Given the description of an element on the screen output the (x, y) to click on. 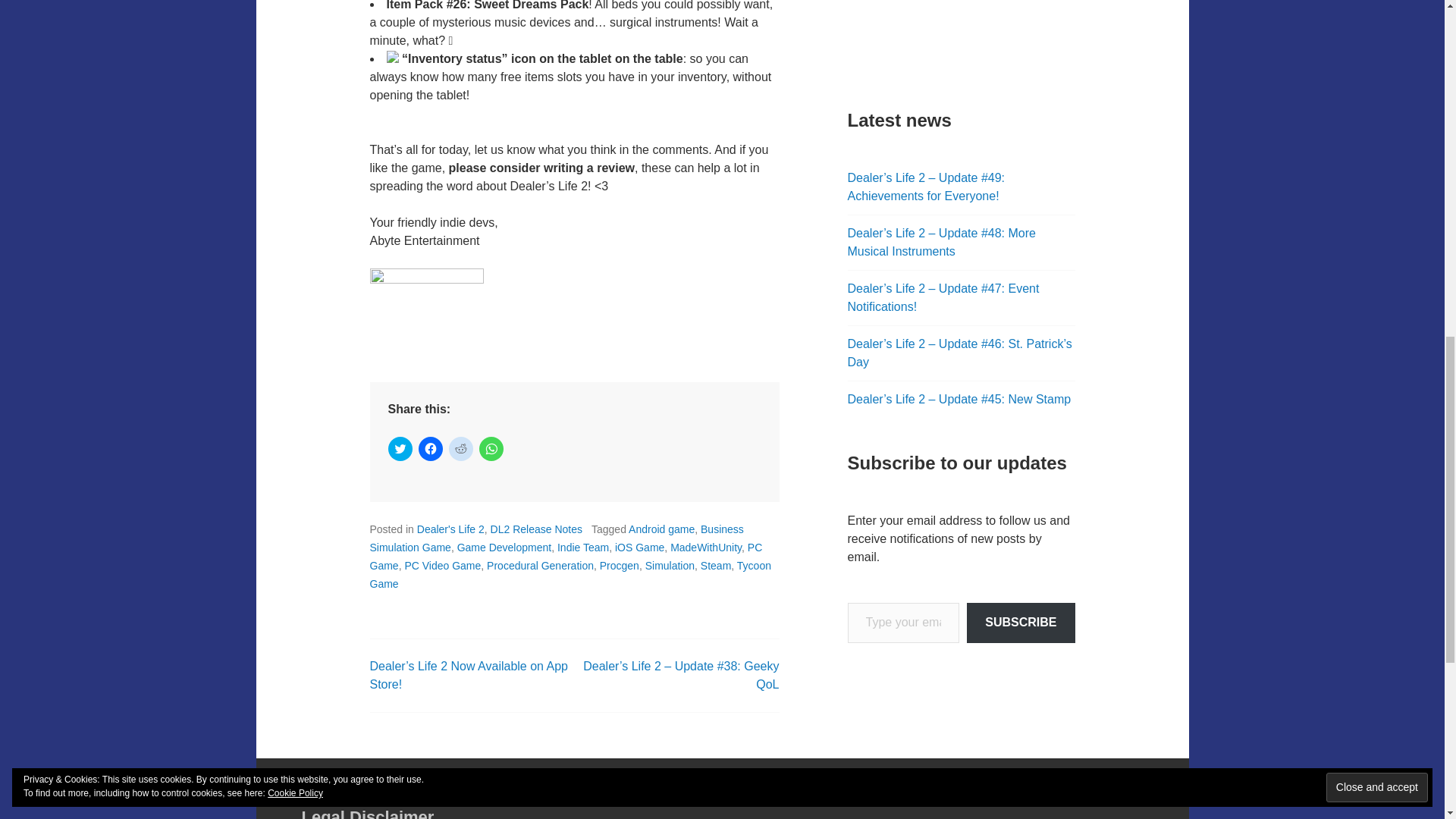
MadeWithUnity (705, 547)
Business Simulation Game (556, 538)
iOS Game (638, 547)
Click to share on WhatsApp (491, 448)
DL2 Release Notes (536, 529)
PC Game (565, 556)
PC Video Game (442, 565)
Android game (661, 529)
Click to share on Reddit (460, 448)
Indie Team (582, 547)
Click to share on Facebook (430, 448)
Click to share on Twitter (400, 448)
Procedural Generation (540, 565)
Dealer's Life 2 (450, 529)
Game Development (504, 547)
